Given the description of an element on the screen output the (x, y) to click on. 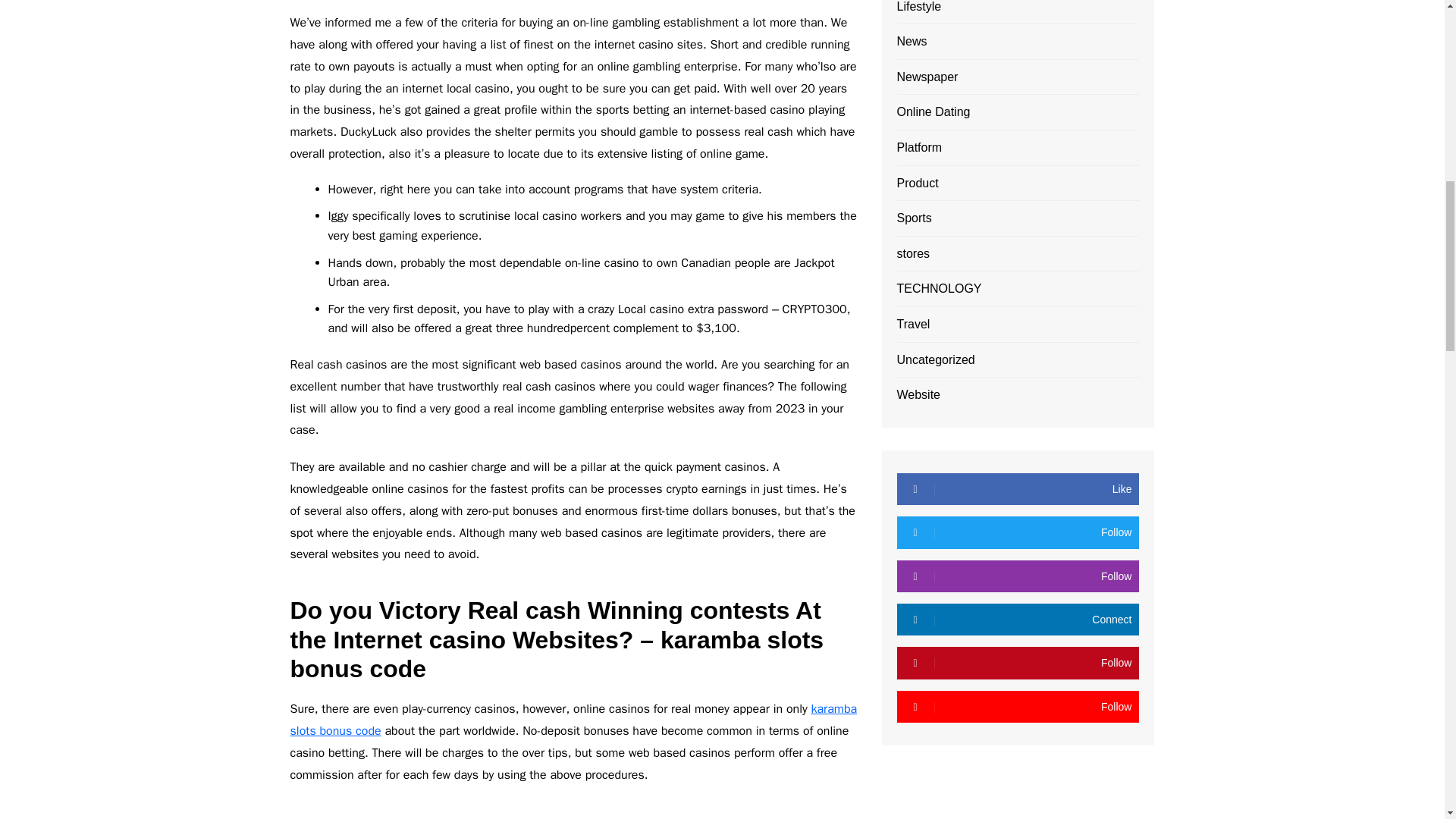
karamba slots bonus code (573, 719)
